Given the description of an element on the screen output the (x, y) to click on. 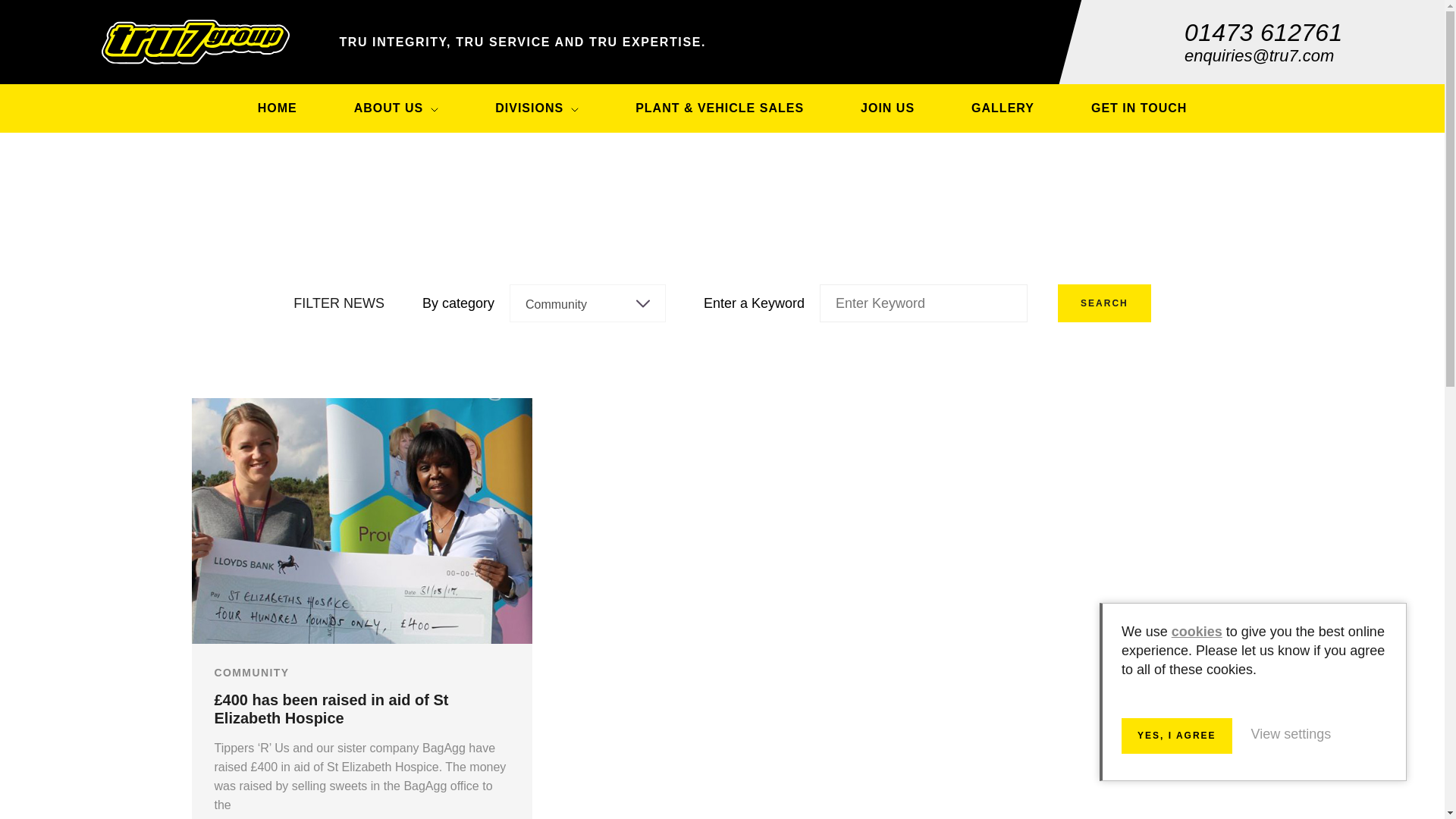
TRU7 Group (195, 41)
JOIN US (887, 108)
ABOUT US (396, 108)
01473 612761 (1263, 31)
HOME (278, 108)
Search (1104, 303)
GET IN TOUCH (1138, 108)
GALLERY (1002, 108)
DIVISIONS (537, 108)
Search (1104, 303)
